Given the description of an element on the screen output the (x, y) to click on. 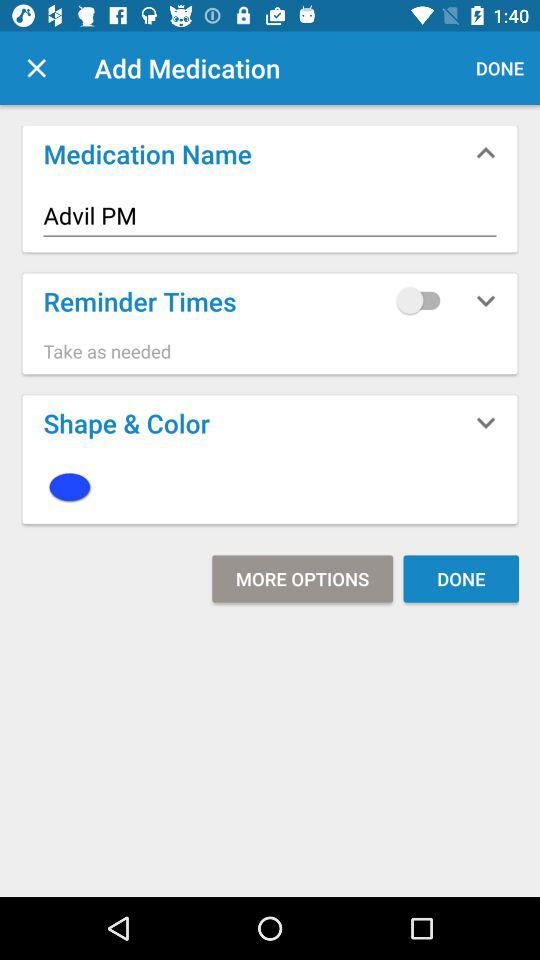
toggle autoplay option (423, 300)
